Given the description of an element on the screen output the (x, y) to click on. 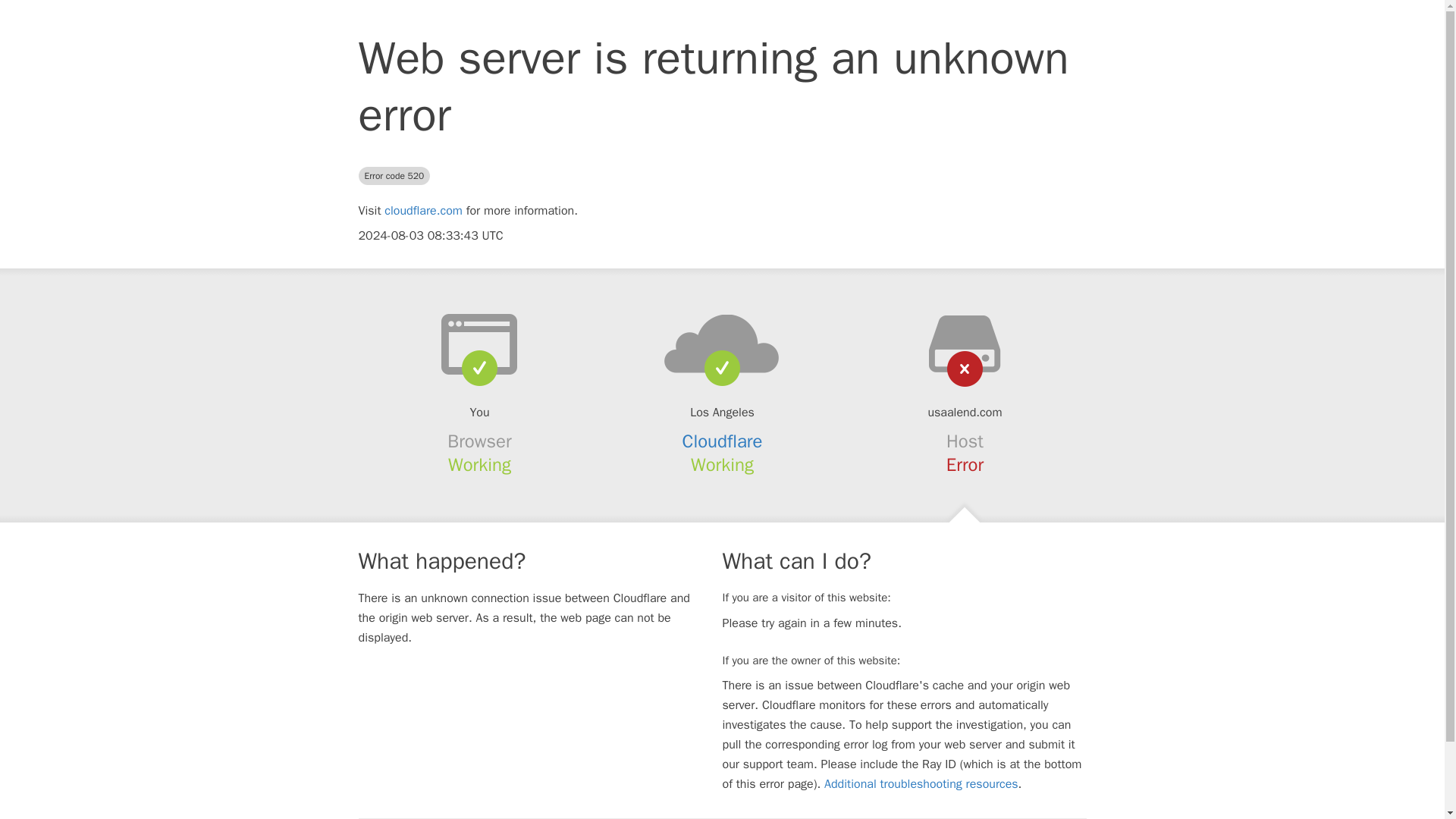
Cloudflare (722, 440)
cloudflare.com (423, 210)
Additional troubleshooting resources (920, 783)
